Given the description of an element on the screen output the (x, y) to click on. 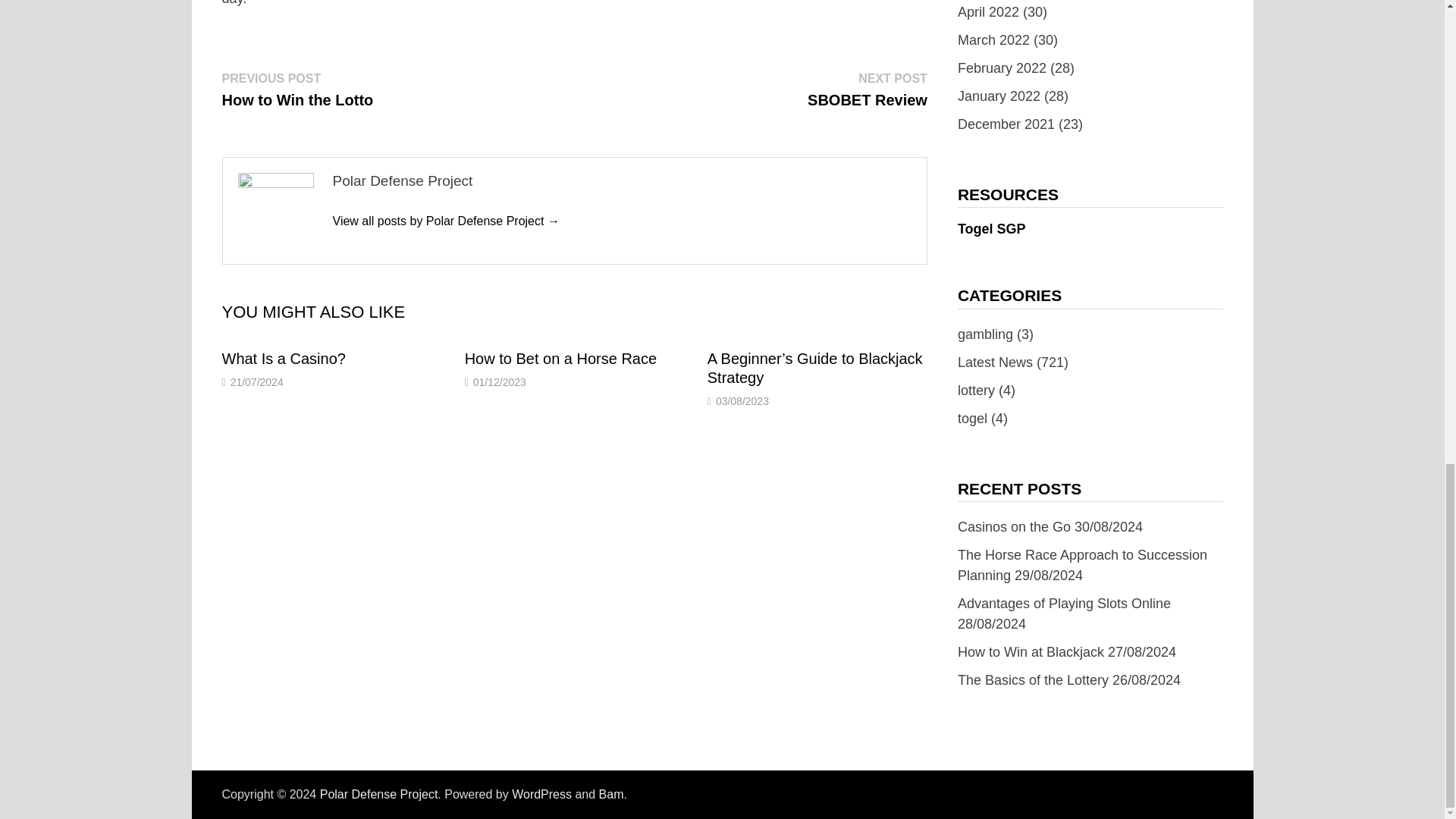
Polar Defense Project (379, 793)
What Is a Casino? (296, 89)
Polar Defense Project (867, 89)
What Is a Casino? (283, 358)
How to Bet on a Horse Race (445, 220)
How to Bet on a Horse Race (283, 358)
